Given the description of an element on the screen output the (x, y) to click on. 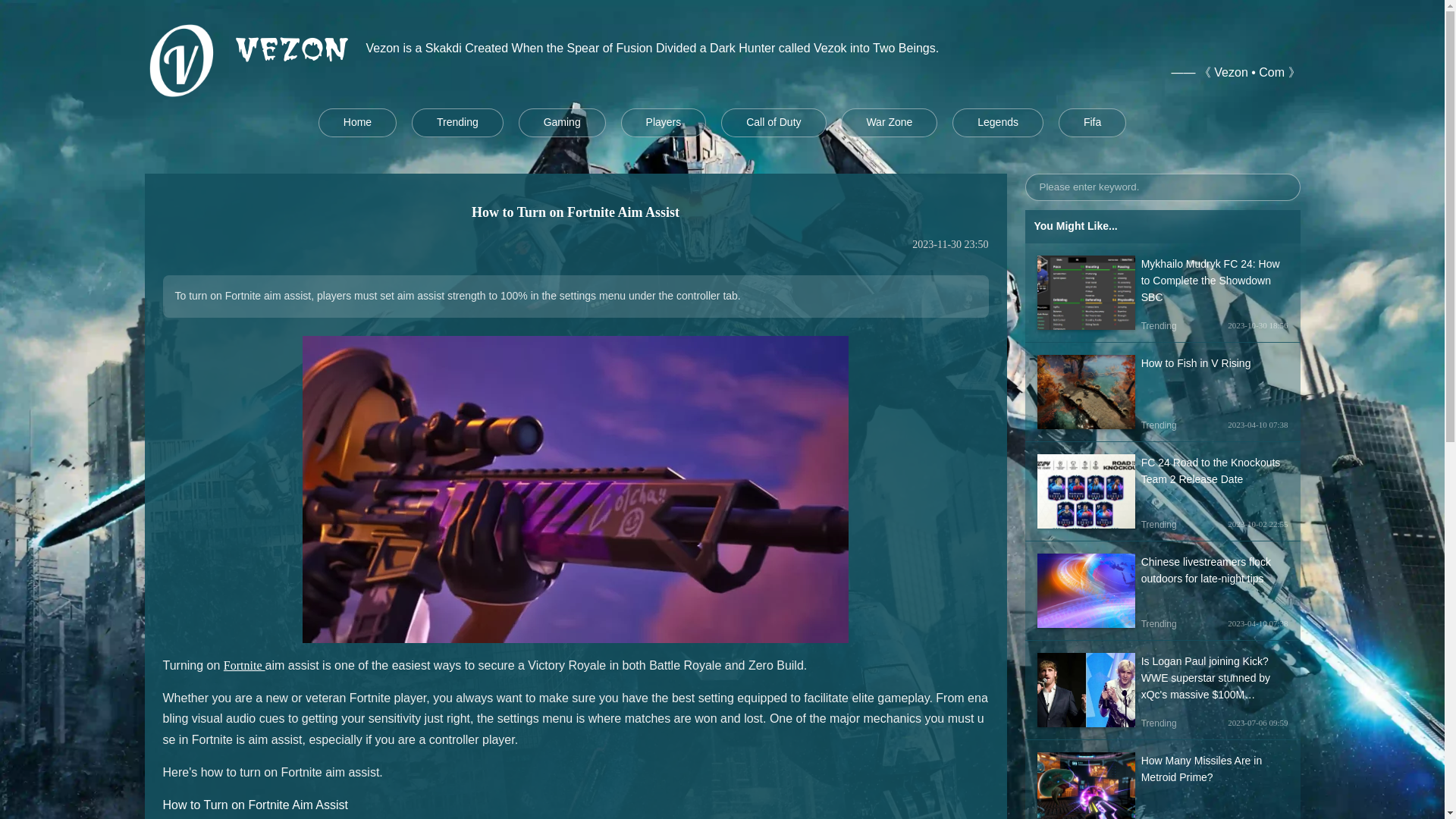
Trending (457, 122)
Fortnite (244, 665)
Fifa (1091, 122)
Legends (997, 122)
Players (663, 122)
War Zone (889, 122)
Home (357, 122)
Call of Duty (772, 122)
Gaming (561, 122)
